Given the description of an element on the screen output the (x, y) to click on. 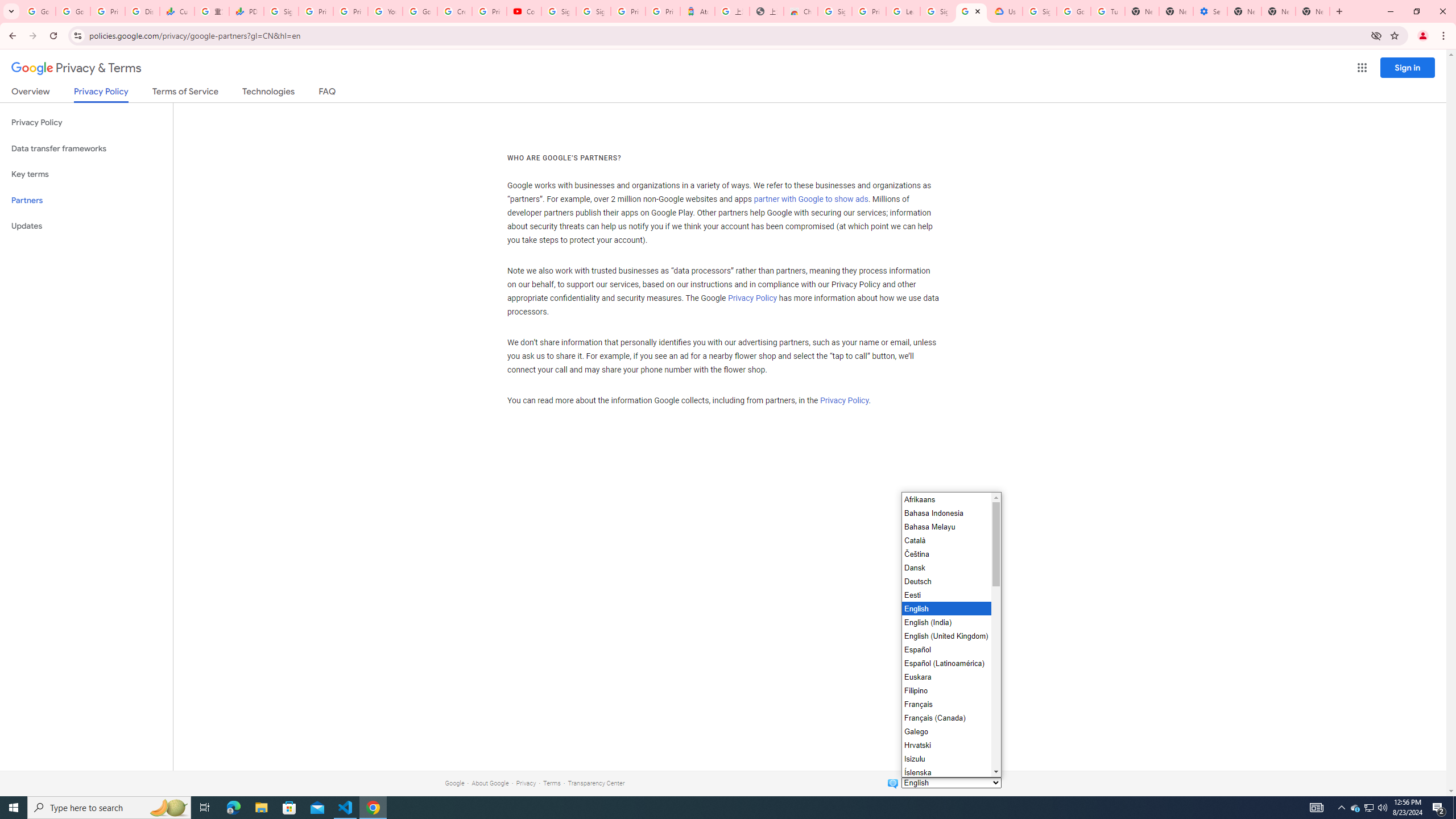
New Tab (1243, 11)
partner with Google to show ads (810, 199)
Galego (945, 730)
Bahasa Indonesia (945, 513)
Kiswahili (945, 799)
Sign in - Google Accounts (1039, 11)
Sign in - Google Accounts (834, 11)
